Given the description of an element on the screen output the (x, y) to click on. 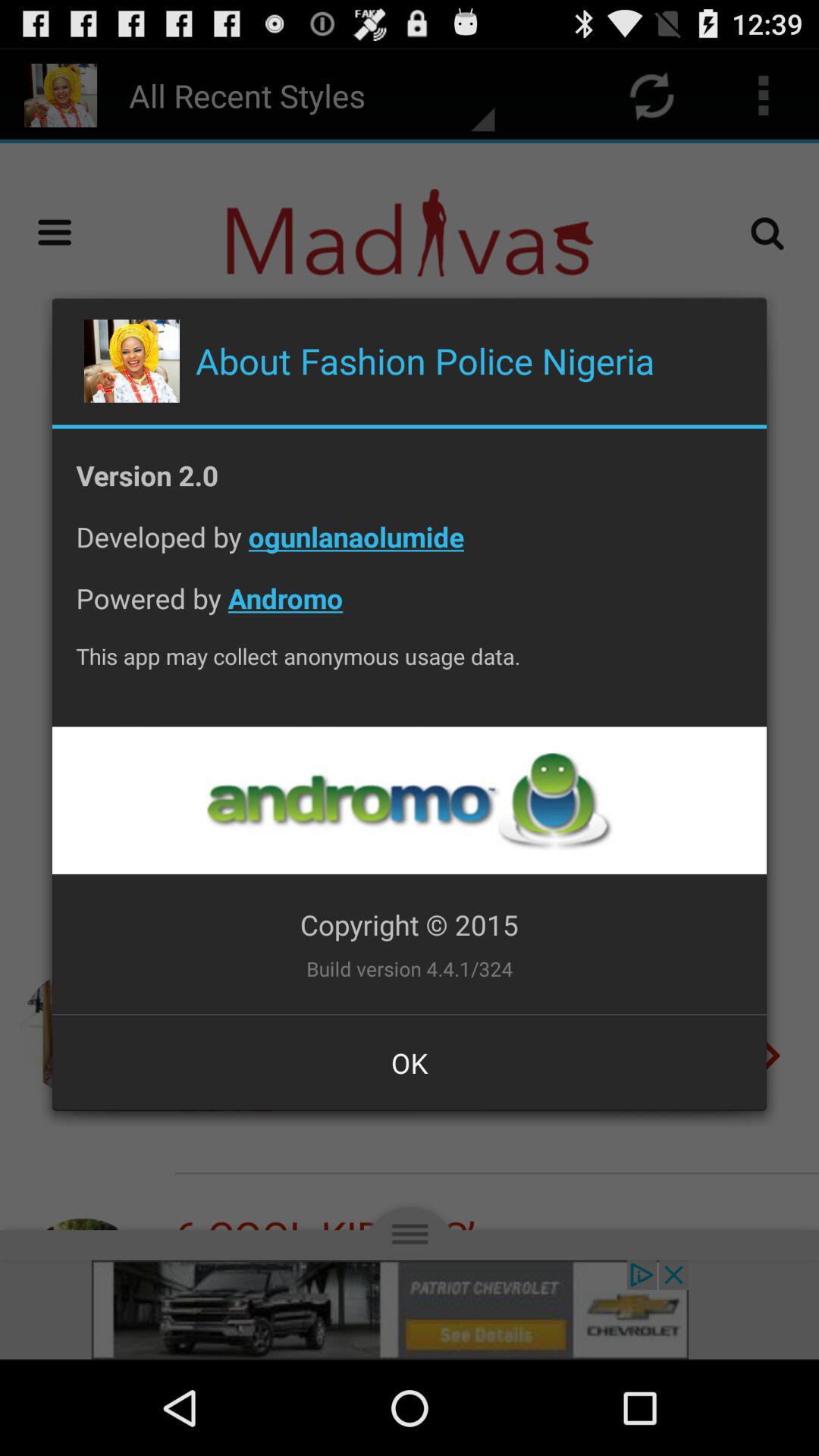
press item below developed by ogunlanaolumide app (409, 609)
